Given the description of an element on the screen output the (x, y) to click on. 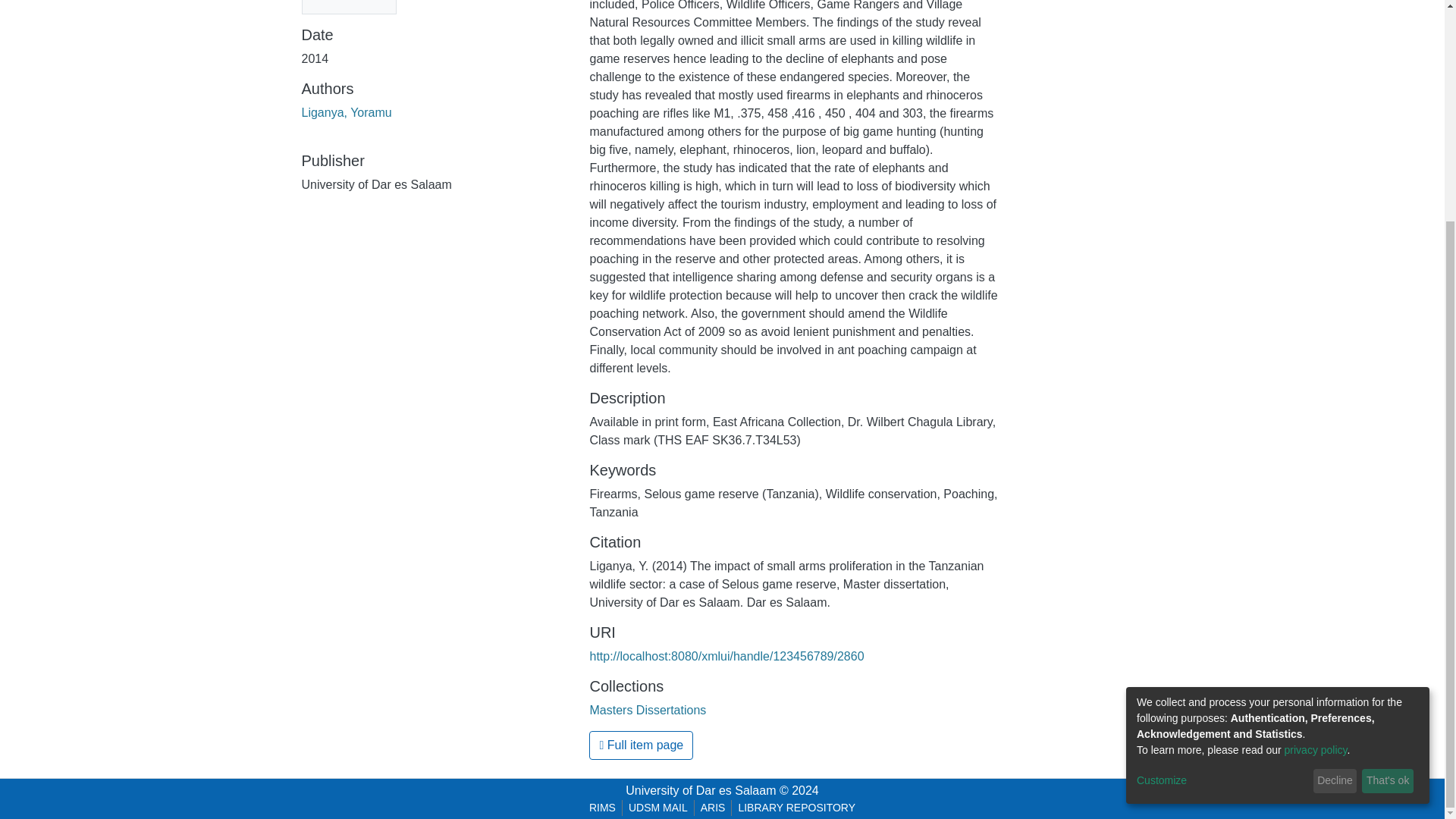
That's ok (1387, 487)
Customize (1222, 487)
RIMS (602, 807)
LIBRARY REPOSITORY (796, 807)
UDSM MAIL (658, 807)
Full item page (641, 745)
privacy policy (1316, 456)
Masters Dissertations (647, 709)
Liganya, Yoramu (346, 112)
ARIS (713, 807)
Decline (1334, 487)
